Given the description of an element on the screen output the (x, y) to click on. 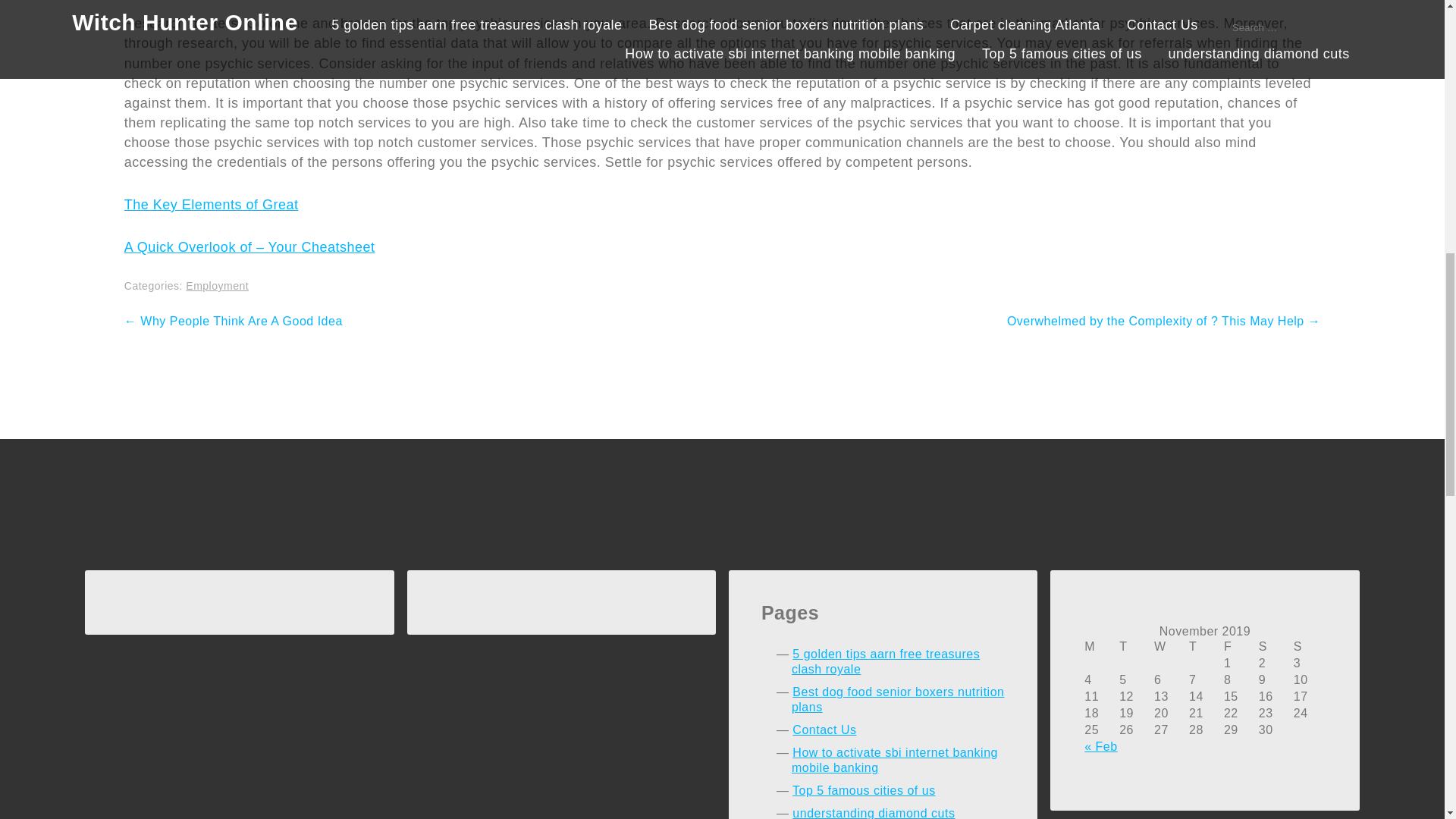
Sunday (1309, 646)
Top 5 famous cities of us (864, 789)
Employment (217, 285)
How to activate sbi internet banking mobile banking (894, 759)
Best dog food senior boxers nutrition plans (898, 699)
Tuesday (1135, 646)
understanding diamond cuts (873, 812)
Contact Us (824, 729)
Saturday (1274, 646)
Monday (1100, 646)
Friday (1240, 646)
Wednesday (1170, 646)
5 golden tips aarn free treasures clash royale (885, 661)
The Key Elements of Great (210, 204)
Thursday (1205, 646)
